Given the description of an element on the screen output the (x, y) to click on. 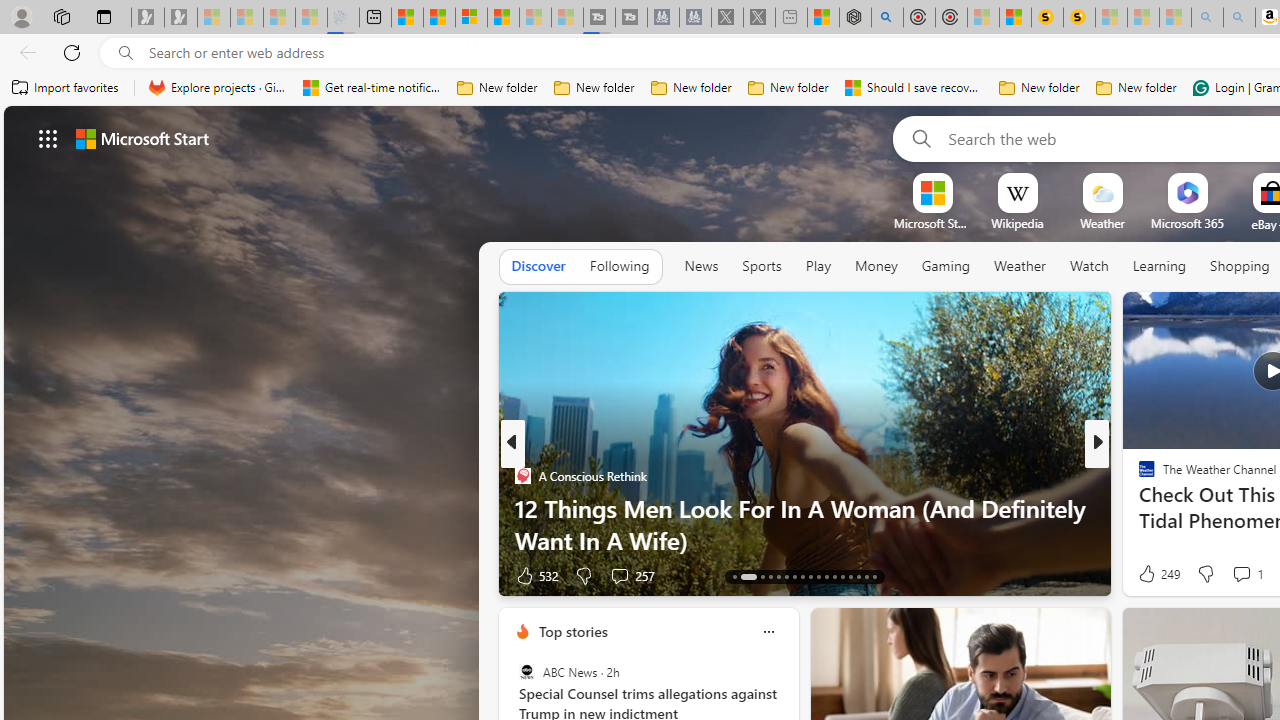
Play (818, 267)
Class: control (47, 138)
CBS News (1138, 475)
AutomationID: tab-17 (778, 576)
AutomationID: tab-28 (865, 576)
Class: icon-img (768, 632)
Microsoft Start - Sleeping (535, 17)
View comments 1 Comment (1241, 573)
New folder (1136, 88)
amazon - Search - Sleeping (1206, 17)
